Given the description of an element on the screen output the (x, y) to click on. 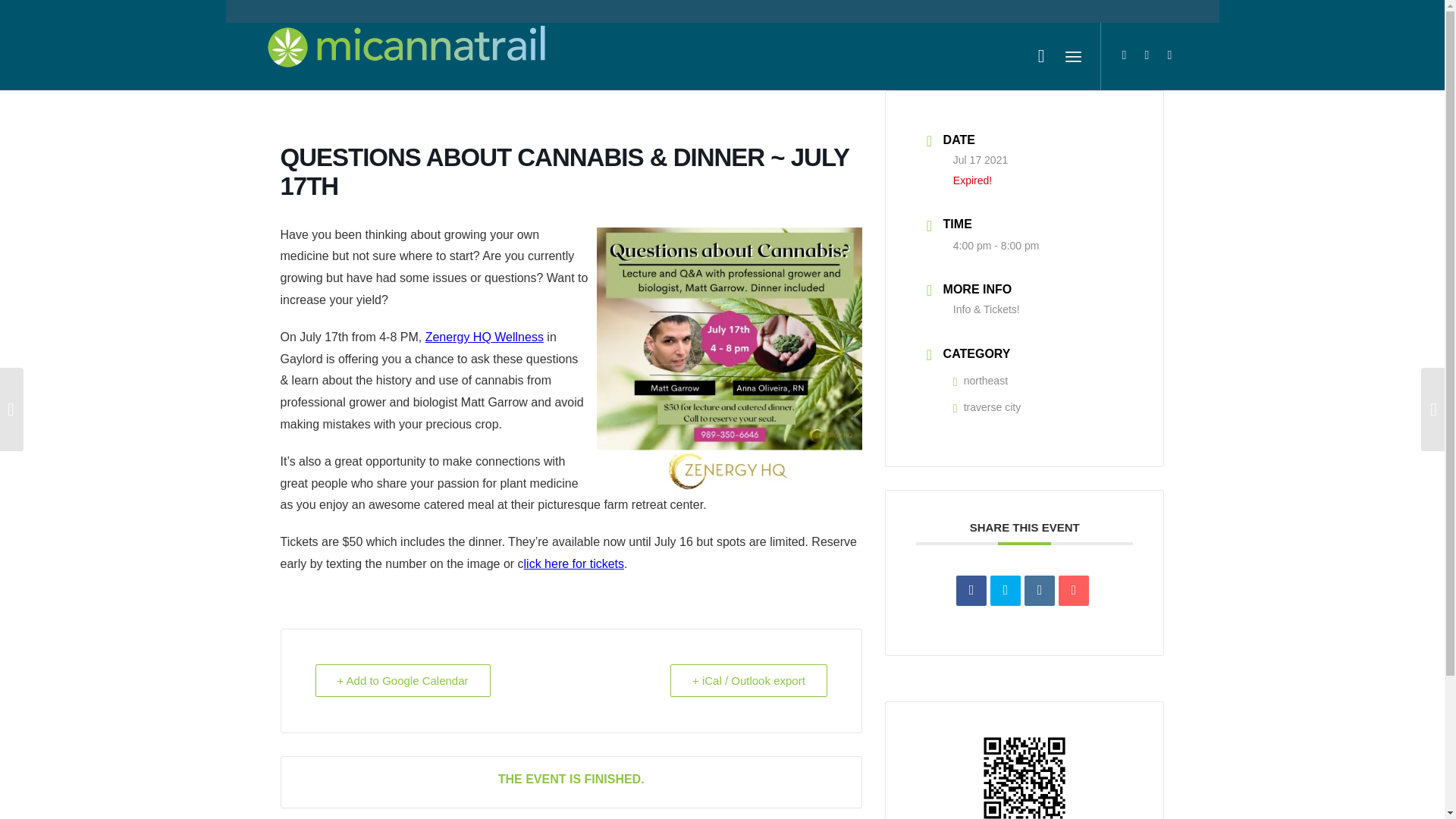
Instagram (1169, 55)
Tweet (1005, 590)
Share on Facebook (971, 590)
Linkedin (1039, 590)
Facebook (1146, 55)
lick here for tickets (574, 563)
Email (1073, 590)
micannatrail (405, 56)
northeast (980, 380)
X (1124, 55)
micannatrail (405, 49)
Zenergy HQ Wellness (484, 336)
